Given the description of an element on the screen output the (x, y) to click on. 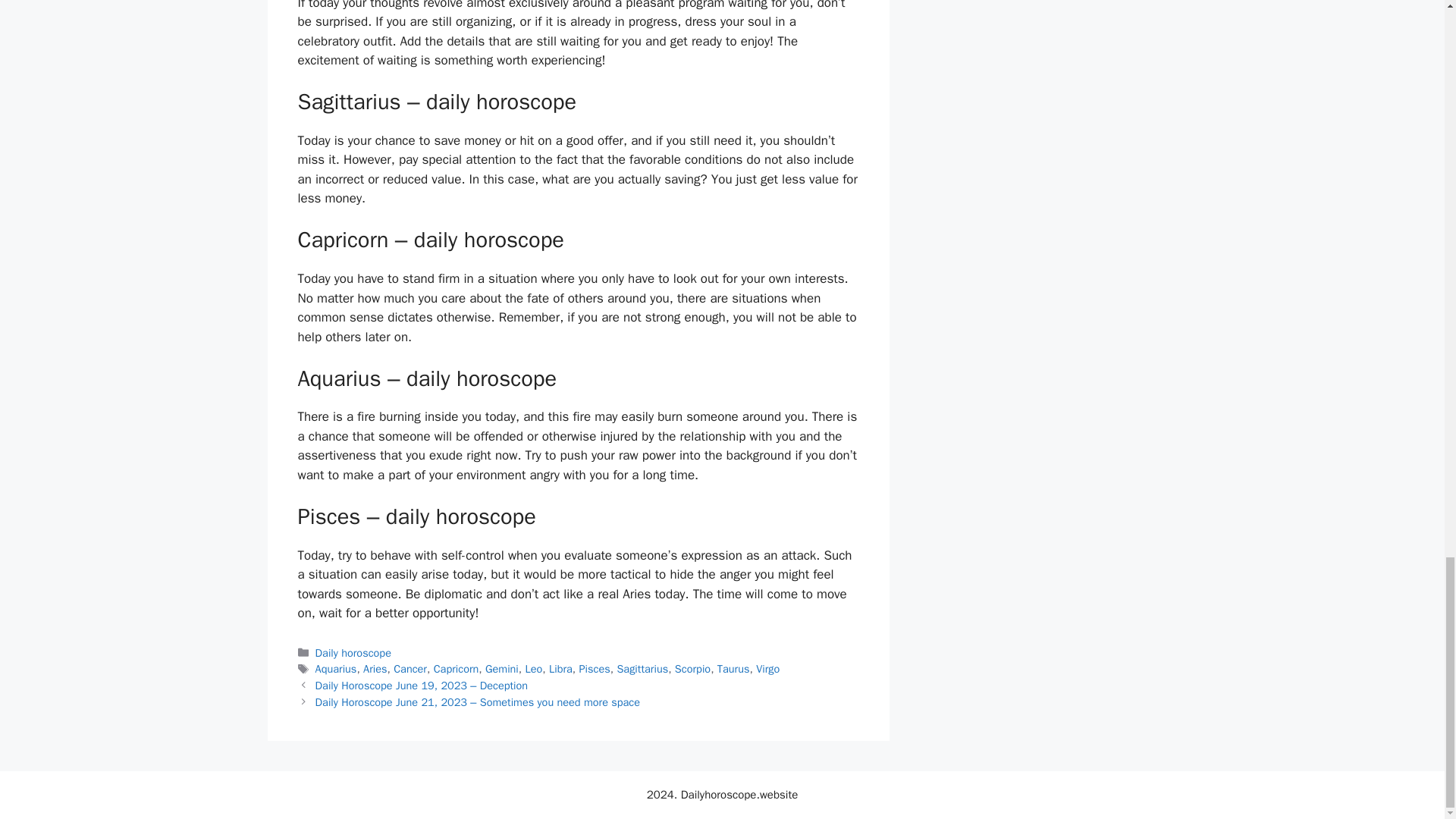
Gemini (501, 668)
Capricorn (456, 668)
Sagittarius (641, 668)
Aries (374, 668)
Scorpio (692, 668)
Leo (532, 668)
Libra (560, 668)
Aquarius (335, 668)
Daily horoscope (353, 653)
Virgo (766, 668)
